Given the description of an element on the screen output the (x, y) to click on. 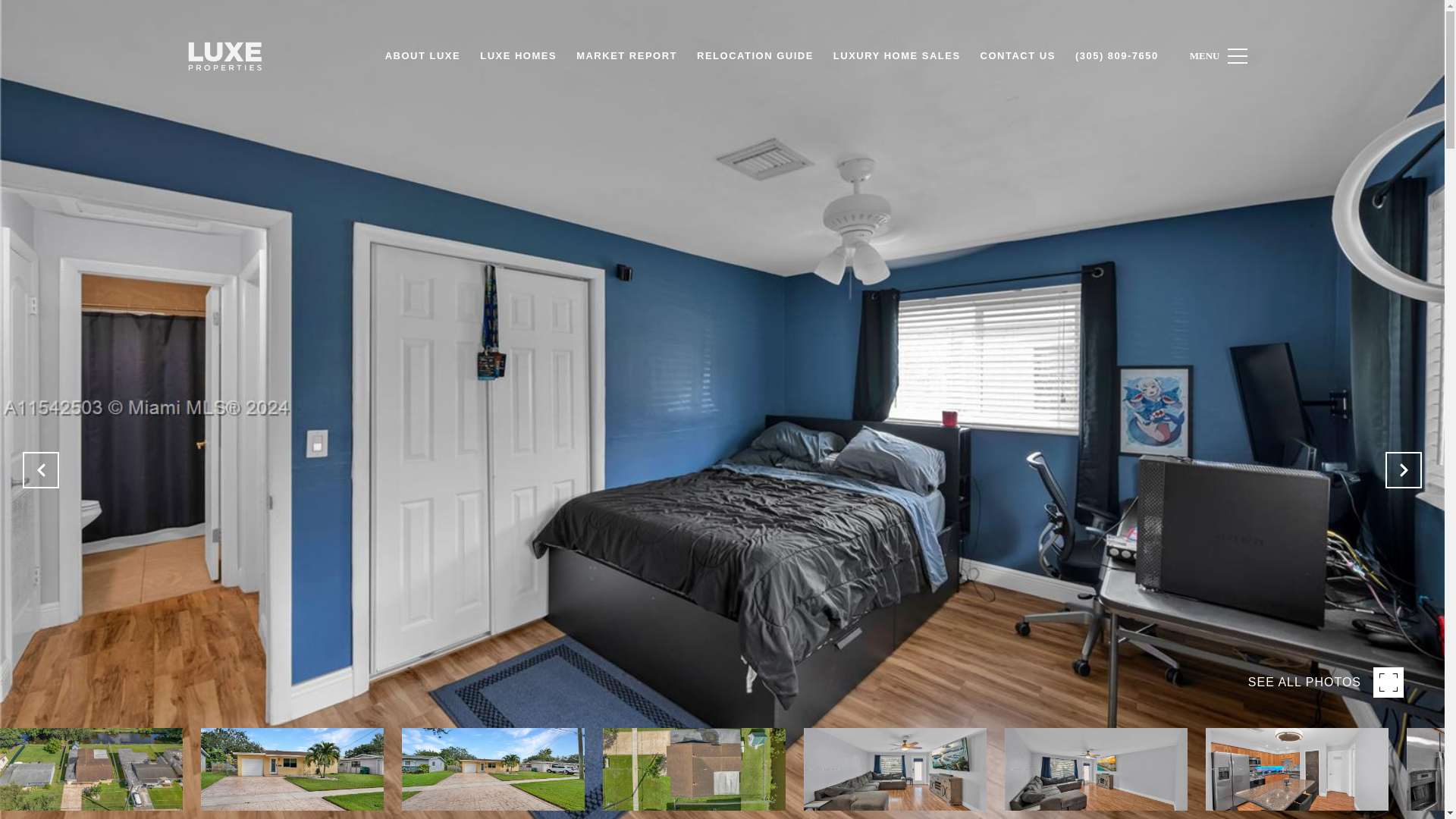
CONTACT US (1018, 55)
LUXURY HOME SALES (897, 55)
RELOCATION GUIDE (755, 55)
ABOUT LUXE (422, 55)
LUXE HOMES (518, 55)
MARKET REPORT (626, 55)
